Given the description of an element on the screen output the (x, y) to click on. 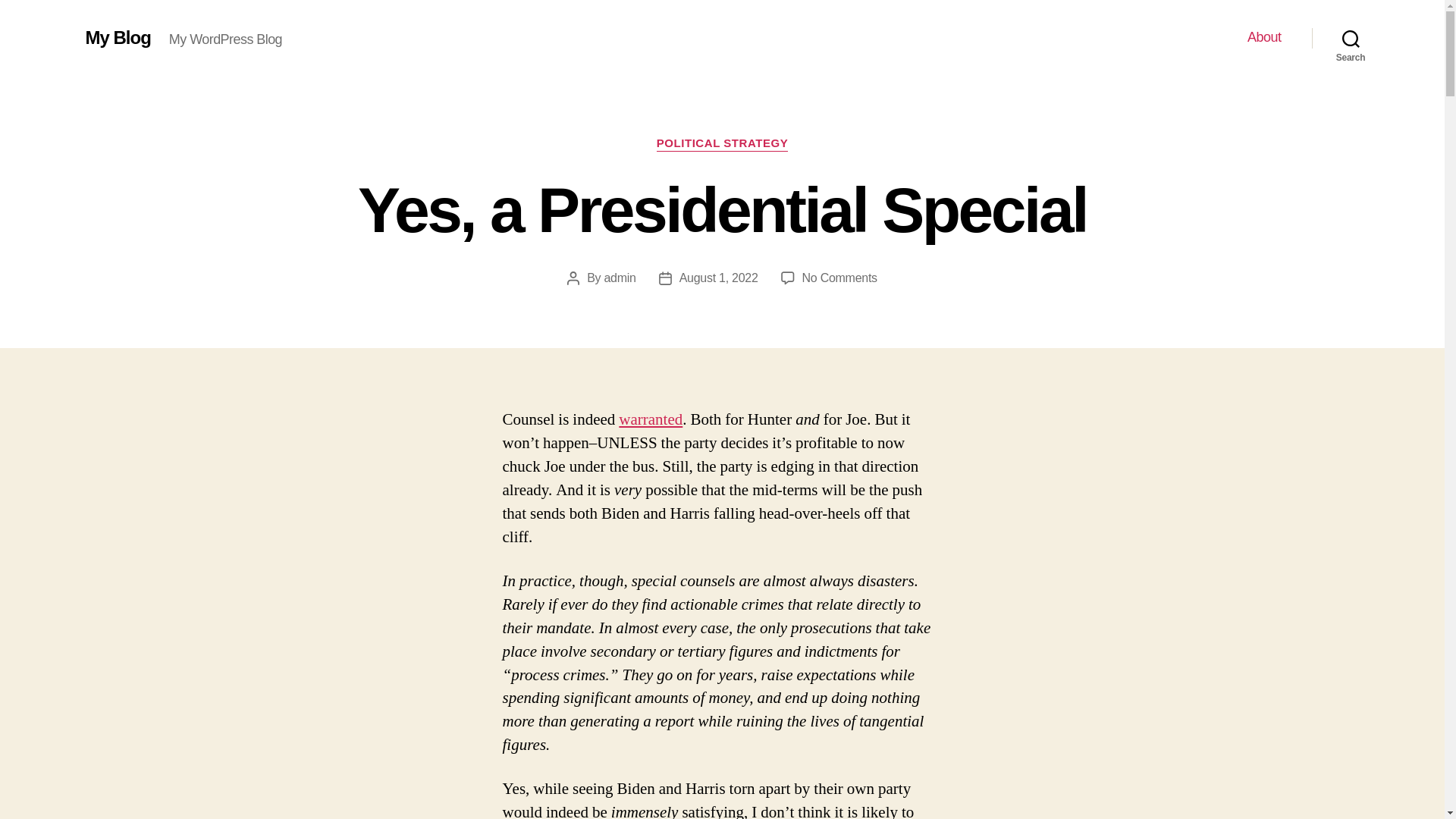
POLITICAL STRATEGY (839, 277)
August 1, 2022 (722, 143)
My Blog (718, 277)
admin (116, 37)
About (619, 277)
Search (1264, 37)
warranted (1350, 37)
